Given the description of an element on the screen output the (x, y) to click on. 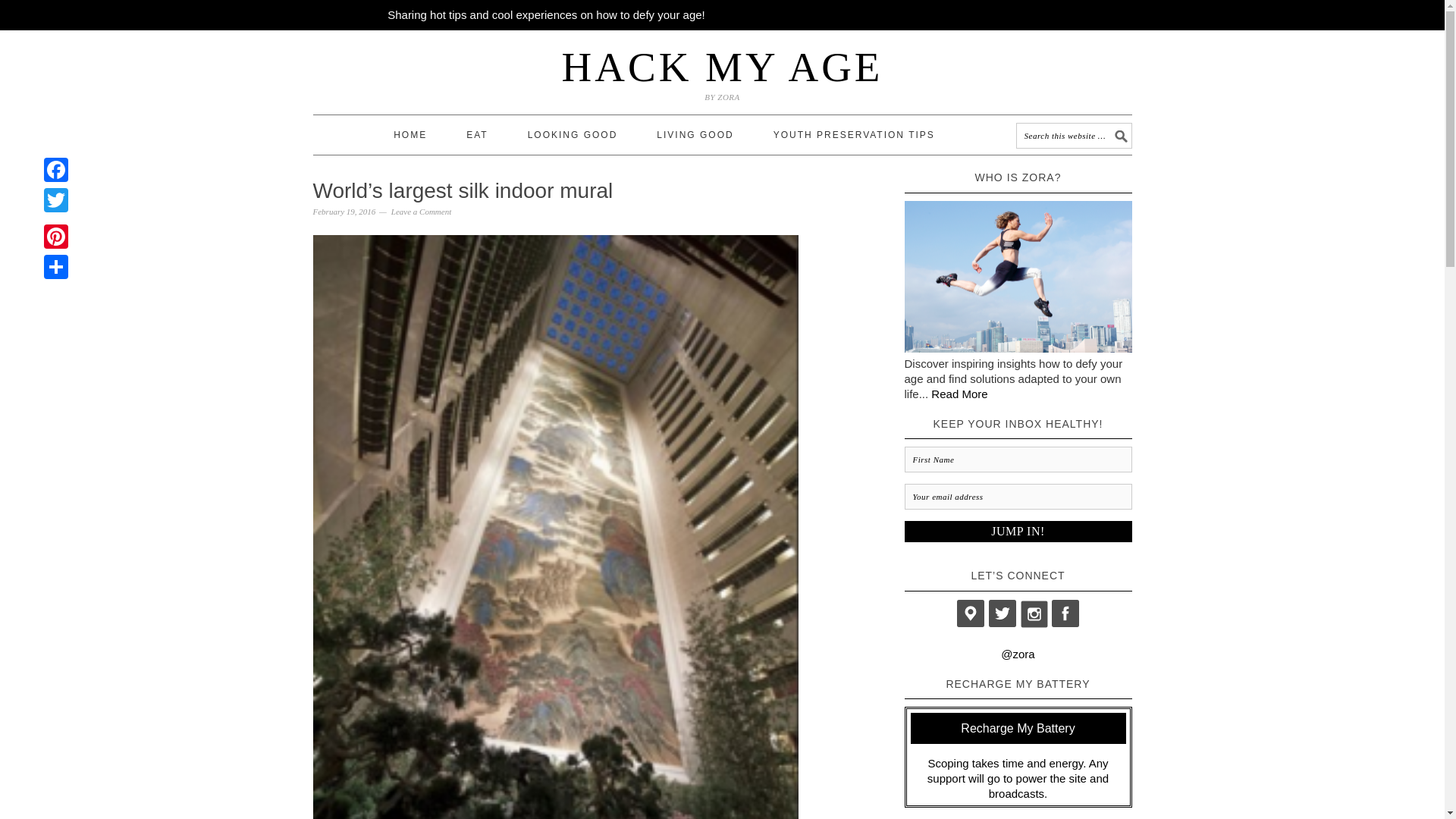
Jump in! (1017, 531)
Leave a Comment (421, 211)
EAT (476, 134)
LIVING GOOD (694, 134)
Jump in! (1017, 531)
YOUTH PRESERVATION TIPS (853, 134)
HACK MY AGE (722, 67)
LOOKING GOOD (572, 134)
HOME (409, 134)
HACK MY AGE (722, 67)
Read More (959, 393)
